Given the description of an element on the screen output the (x, y) to click on. 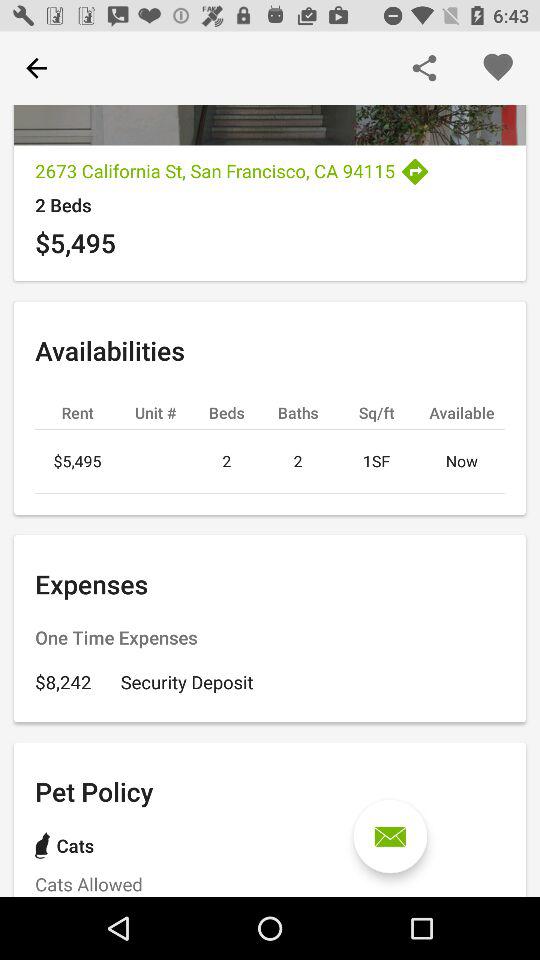
like the page (497, 68)
